Given the description of an element on the screen output the (x, y) to click on. 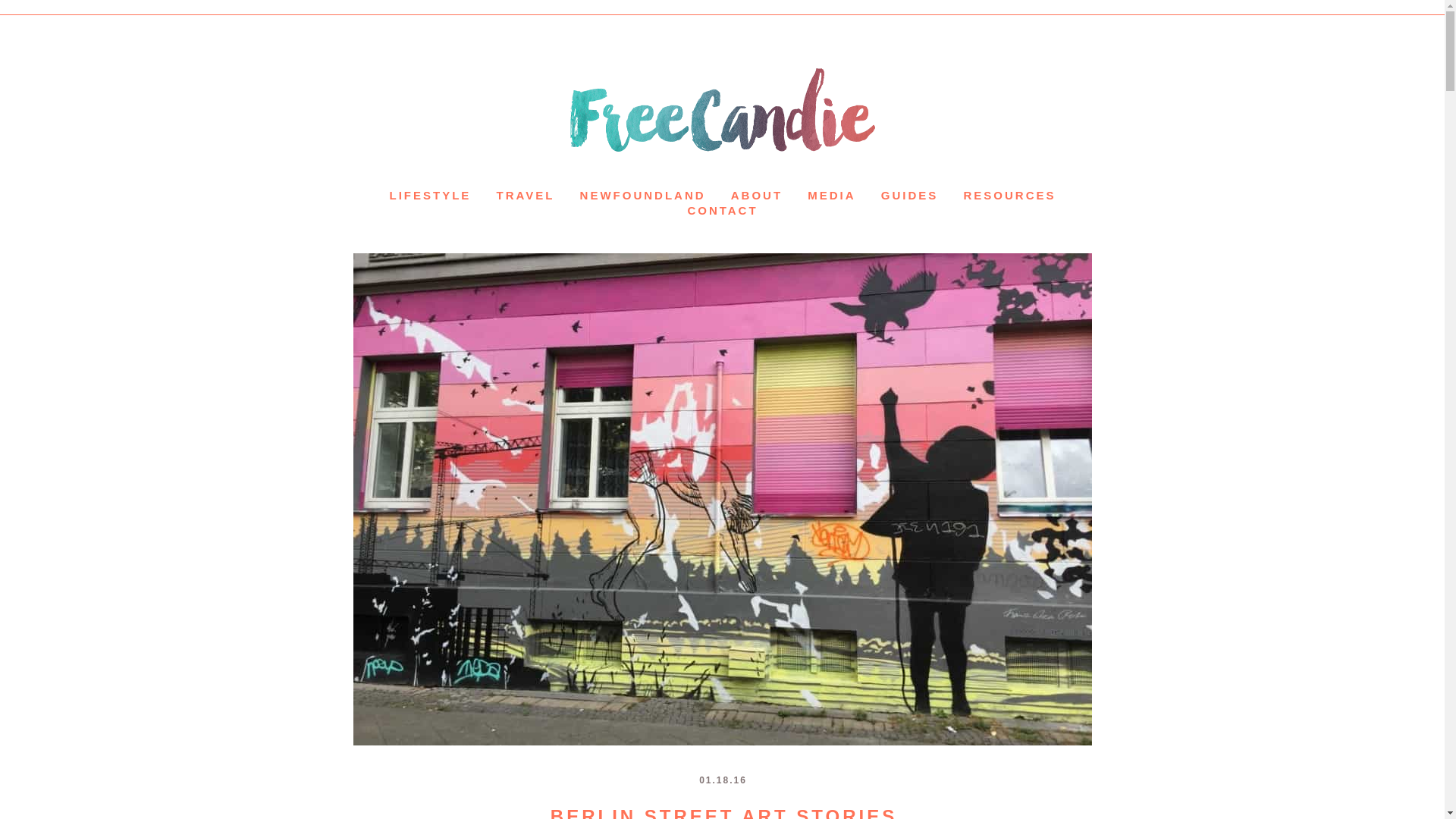
TRAVEL (525, 195)
CONTACT (722, 210)
GUIDES (909, 195)
NEWFOUNDLAND (642, 195)
MEDIA (832, 195)
2016-01-18 (722, 779)
RESOURCES (1008, 195)
ABOUT (756, 195)
LIFESTYLE (430, 195)
